Given the description of an element on the screen output the (x, y) to click on. 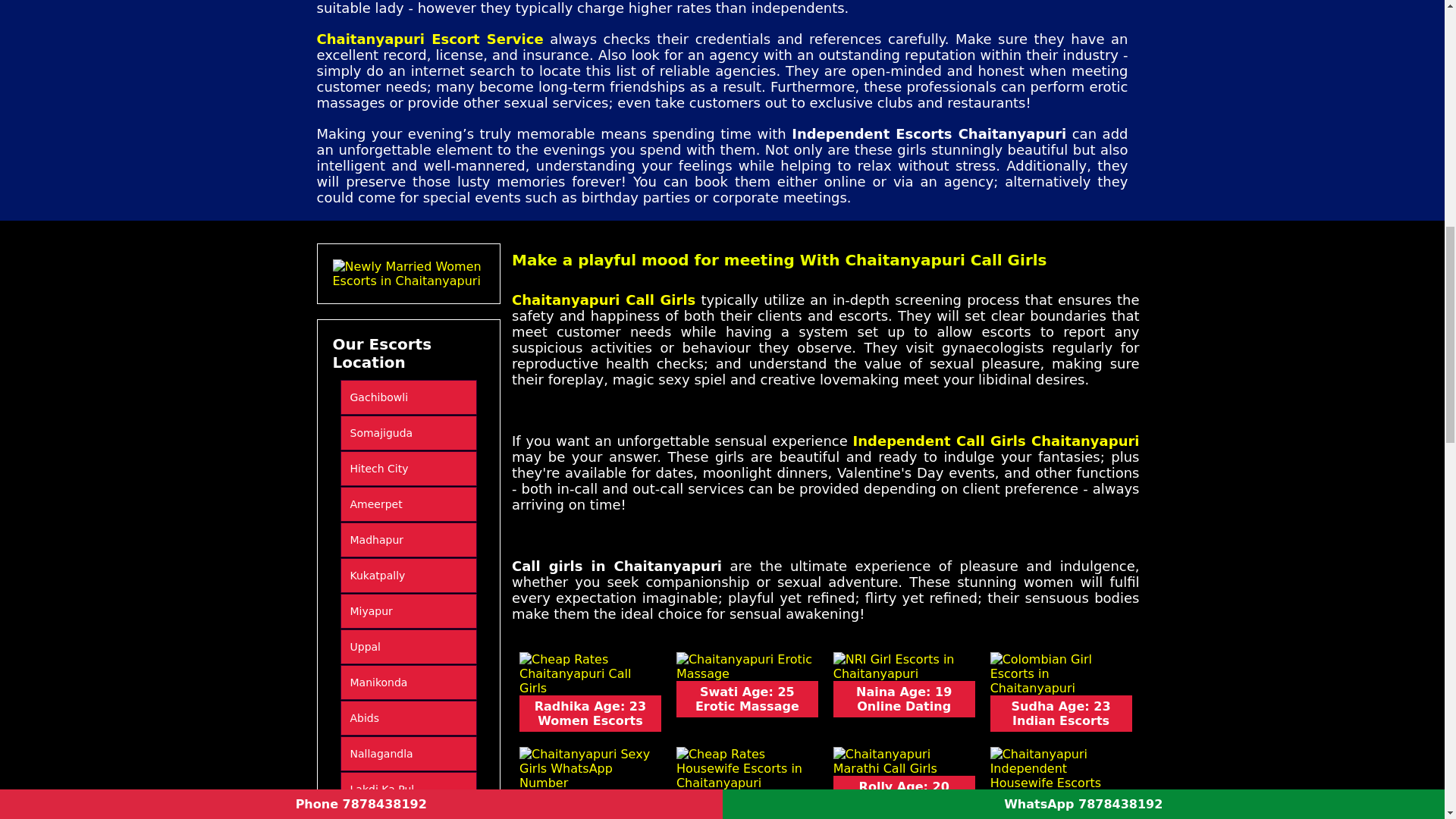
Kukatpally (408, 575)
Madhapur (408, 539)
Gachibowli (408, 397)
Uppal (408, 646)
Miyapur (408, 611)
Lakdi Ka Pul (408, 788)
Hitech City (408, 468)
Khairatabad (408, 814)
Manikonda (408, 682)
Somajiguda (408, 432)
